Given the description of an element on the screen output the (x, y) to click on. 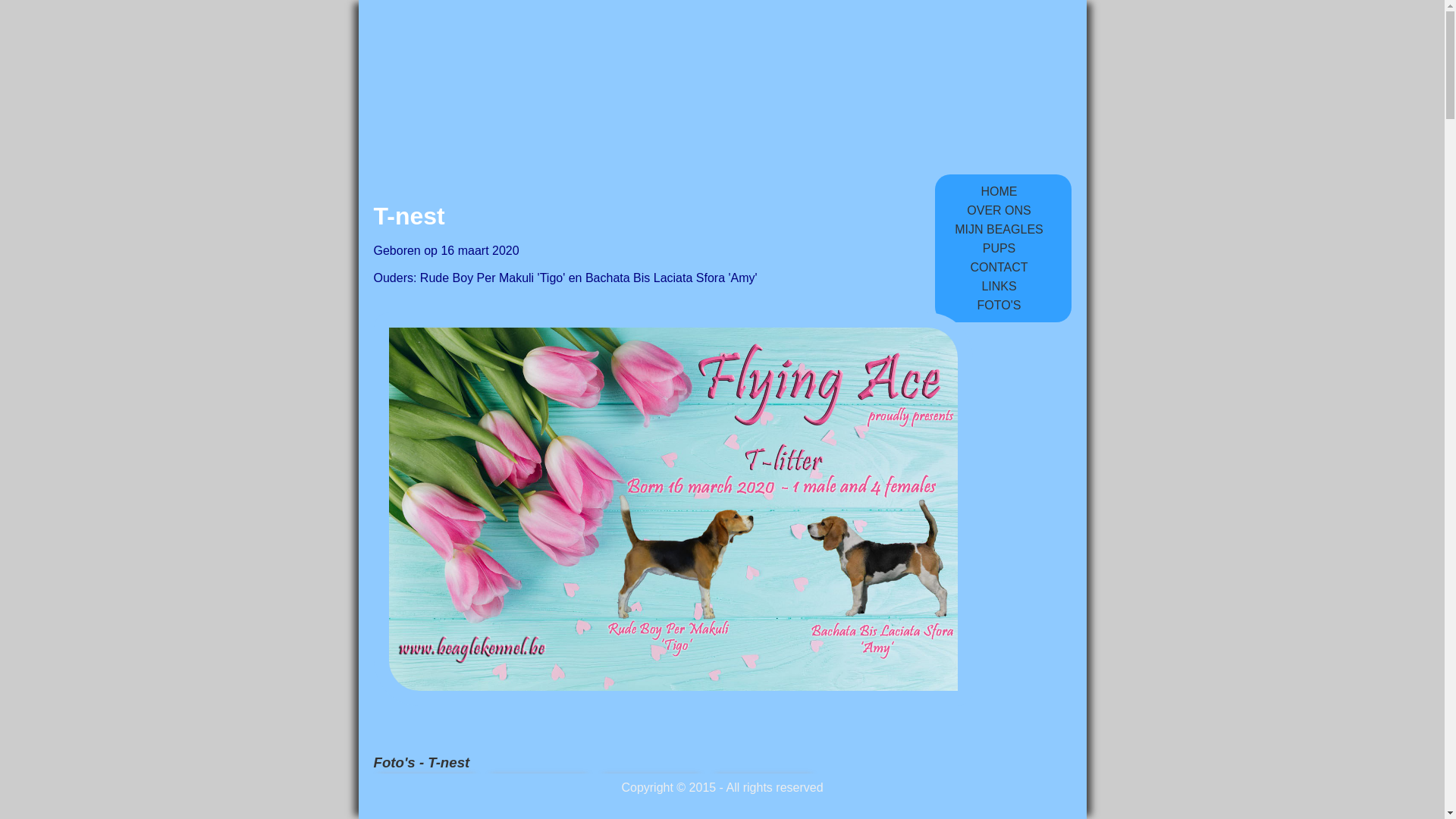
CONTACT Element type: text (998, 266)
OVER ONS Element type: text (998, 209)
HOME Element type: text (998, 191)
FOTO'S Element type: text (998, 304)
LINKS Element type: text (998, 285)
MIJN BEAGLES Element type: text (998, 228)
PUPS Element type: text (998, 247)
